Given the description of an element on the screen output the (x, y) to click on. 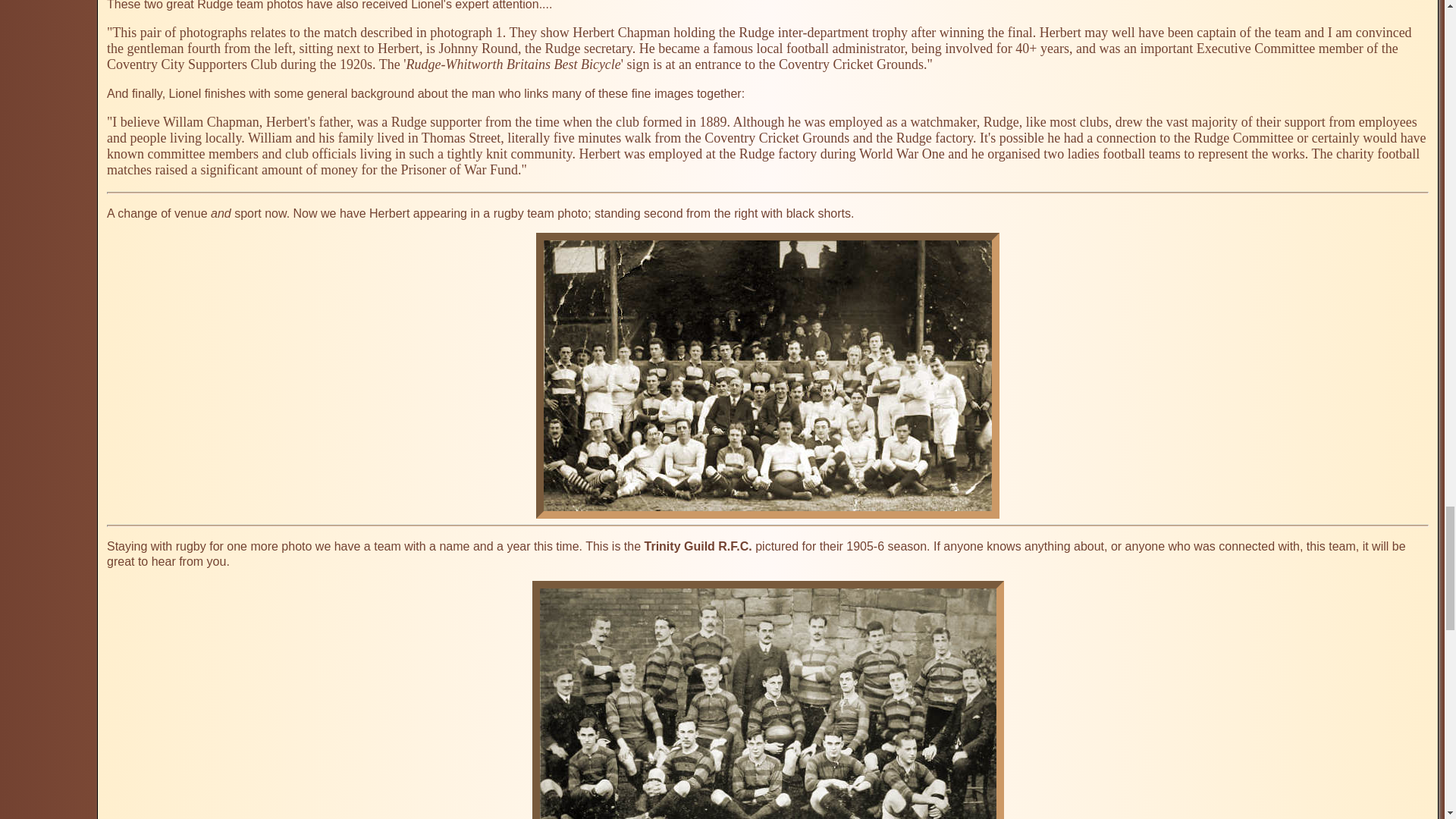
Rugby Team Photo (768, 699)
Rugby Team Photo (766, 375)
